Given the description of an element on the screen output the (x, y) to click on. 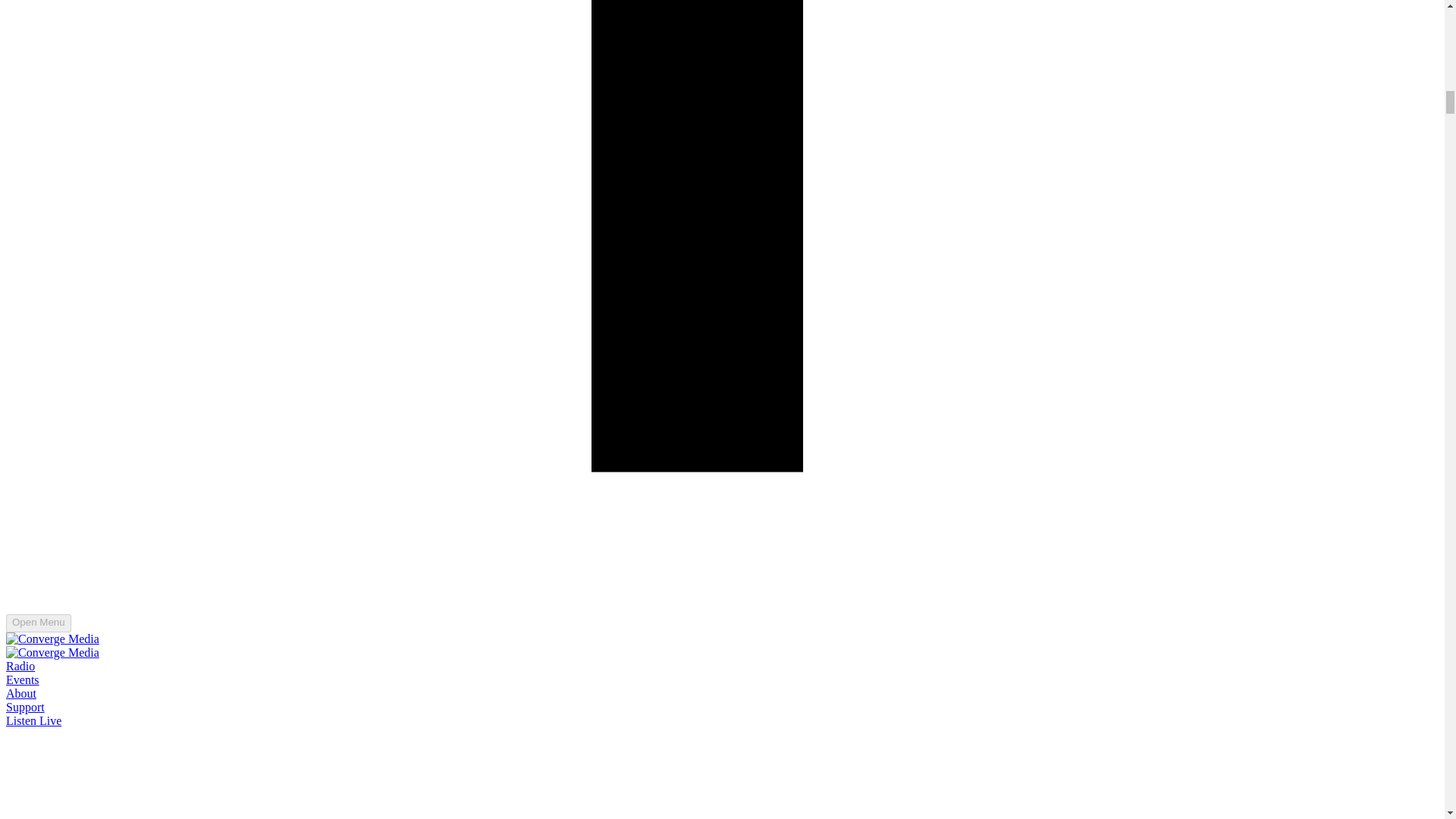
Open Menu (38, 623)
Support (25, 707)
Radio (19, 666)
Events (22, 679)
About (20, 693)
Listen Live (33, 720)
